Given the description of an element on the screen output the (x, y) to click on. 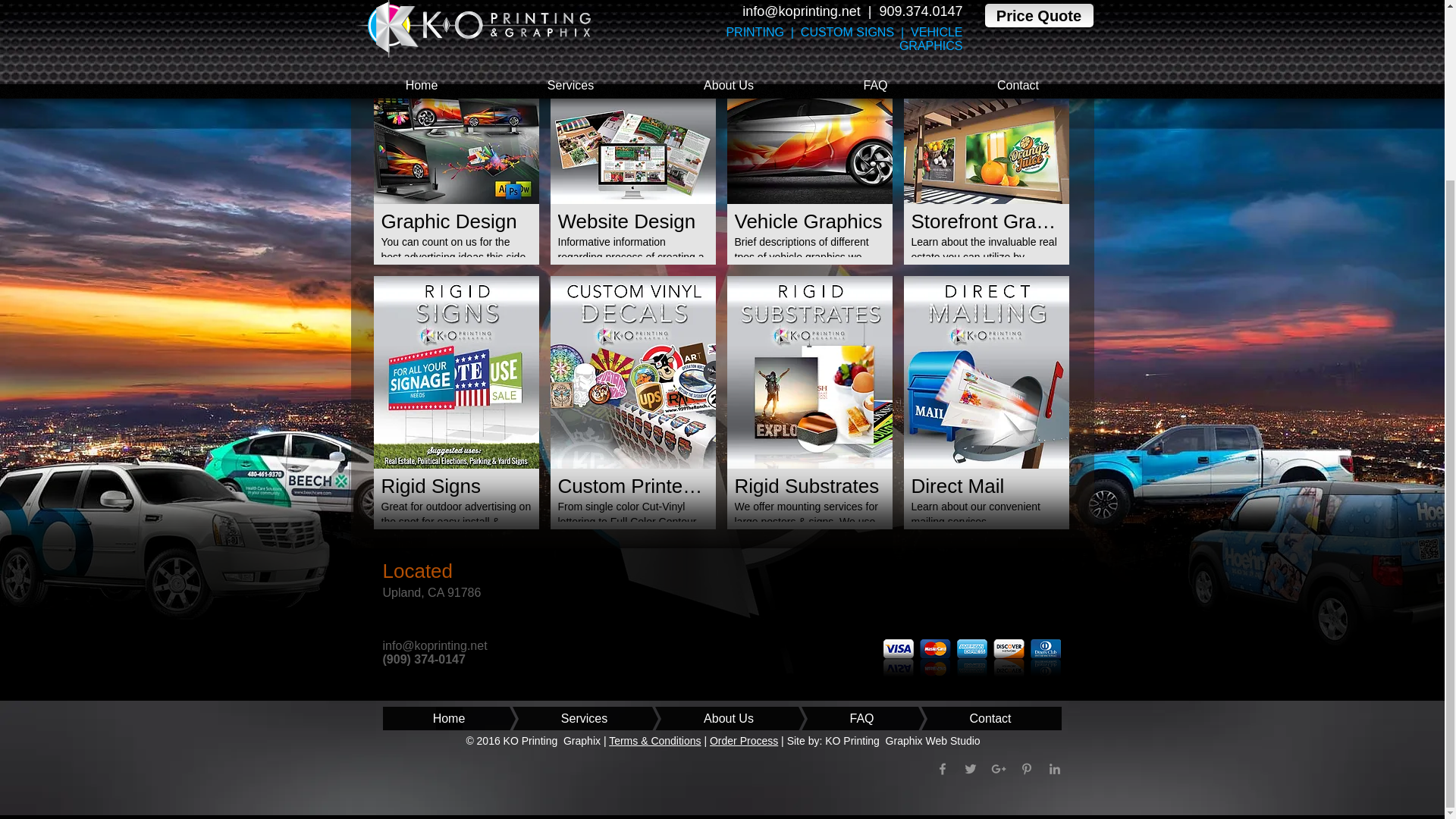
About Us (706, 718)
Order Process (743, 740)
FAQ (838, 718)
Contact (967, 718)
Home (448, 718)
Embedded Content (1001, 601)
Services (561, 718)
creditcards-all.png (971, 658)
